Given the description of an element on the screen output the (x, y) to click on. 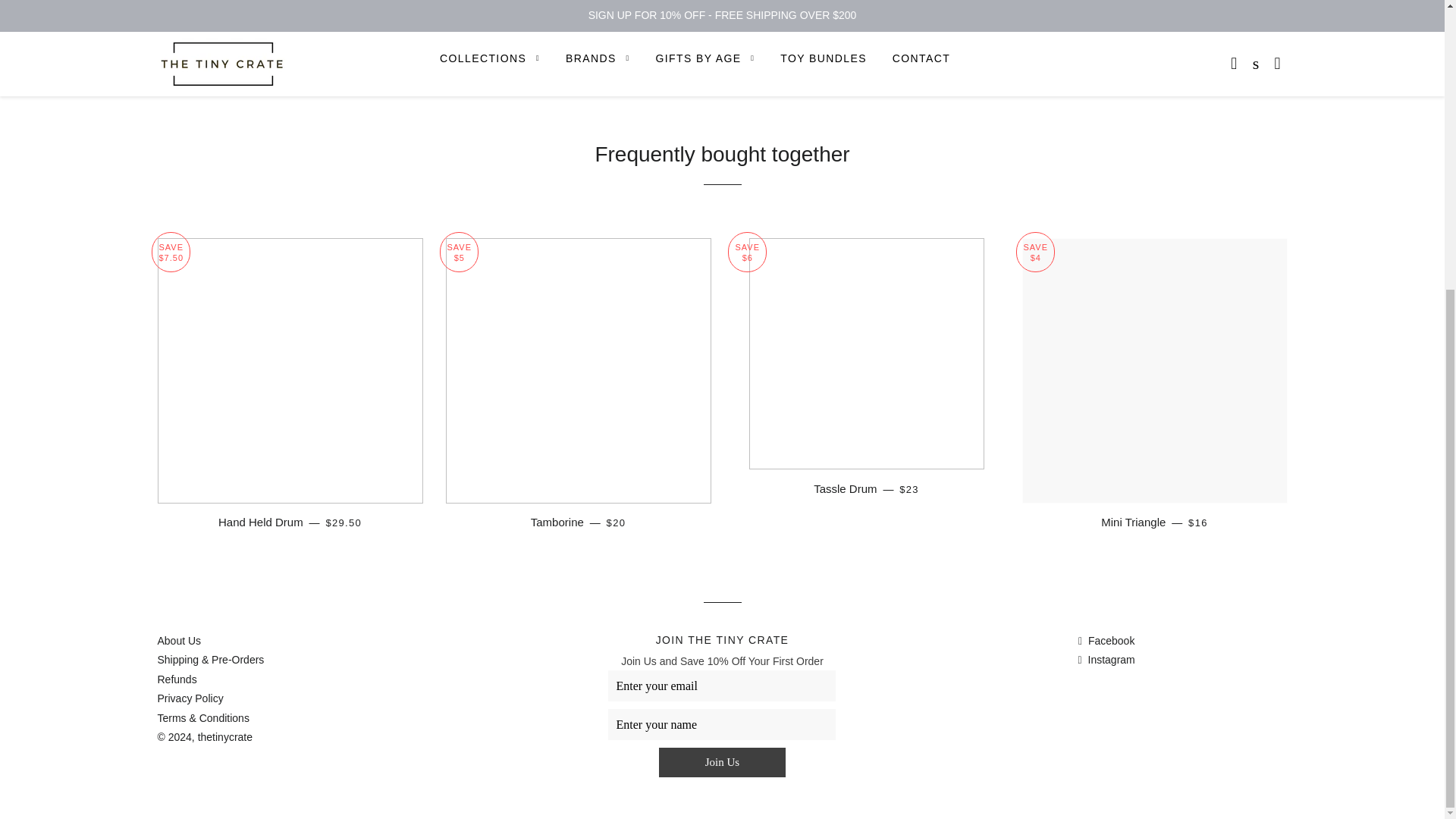
Enter your name (721, 724)
thetinycrate on Facebook (1106, 640)
thetinycrate on Instagram (1106, 659)
Join Us (722, 761)
Enter your email (721, 685)
